Given the description of an element on the screen output the (x, y) to click on. 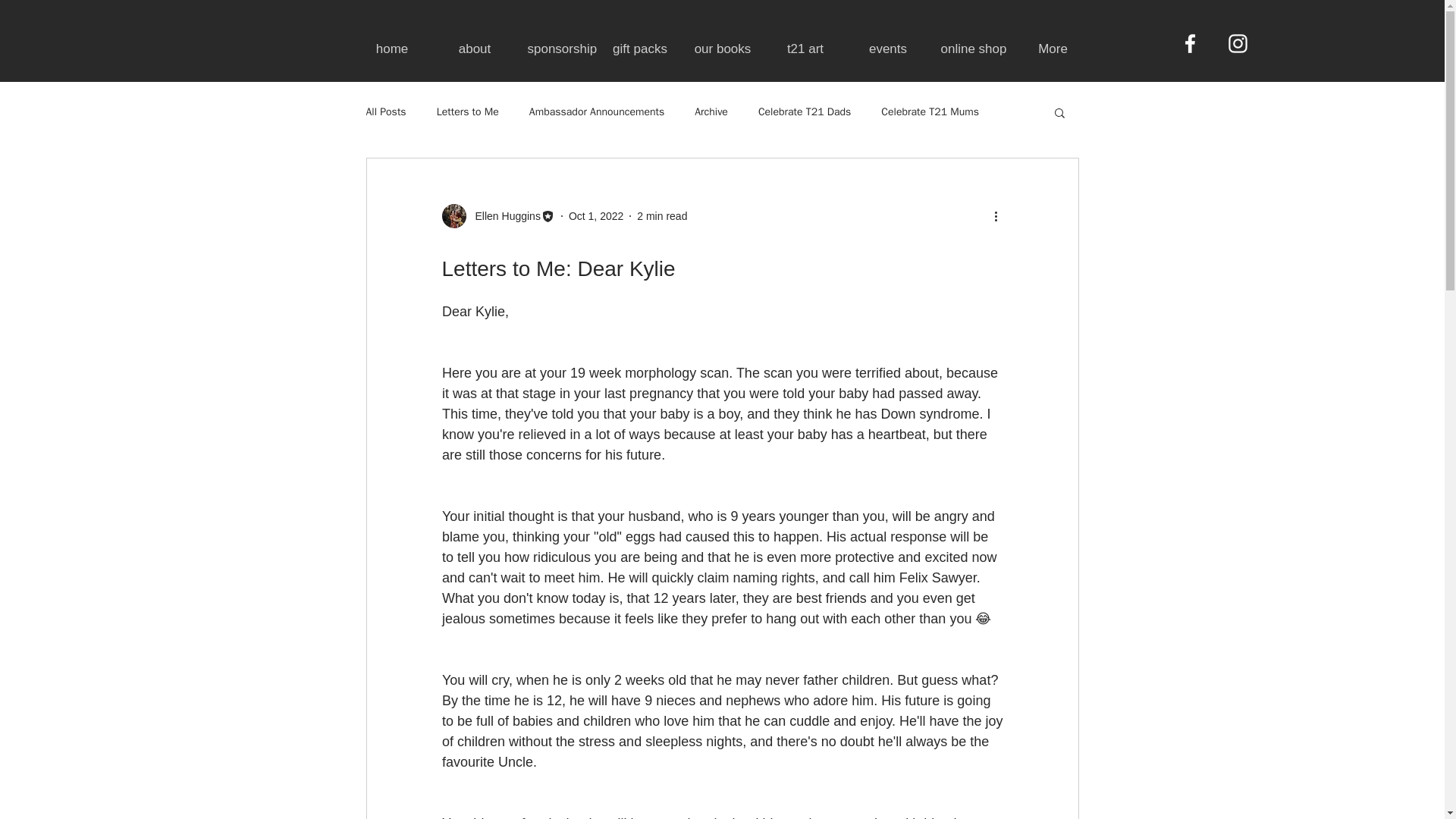
sponsorship (556, 49)
Celebrate T21 Mums (929, 111)
gift packs (639, 49)
Ellen Huggins (497, 215)
Letters to Me (467, 111)
home (391, 49)
Celebrate T21 Dads (804, 111)
All Posts (385, 111)
about (474, 49)
2 min read (662, 215)
